Given the description of an element on the screen output the (x, y) to click on. 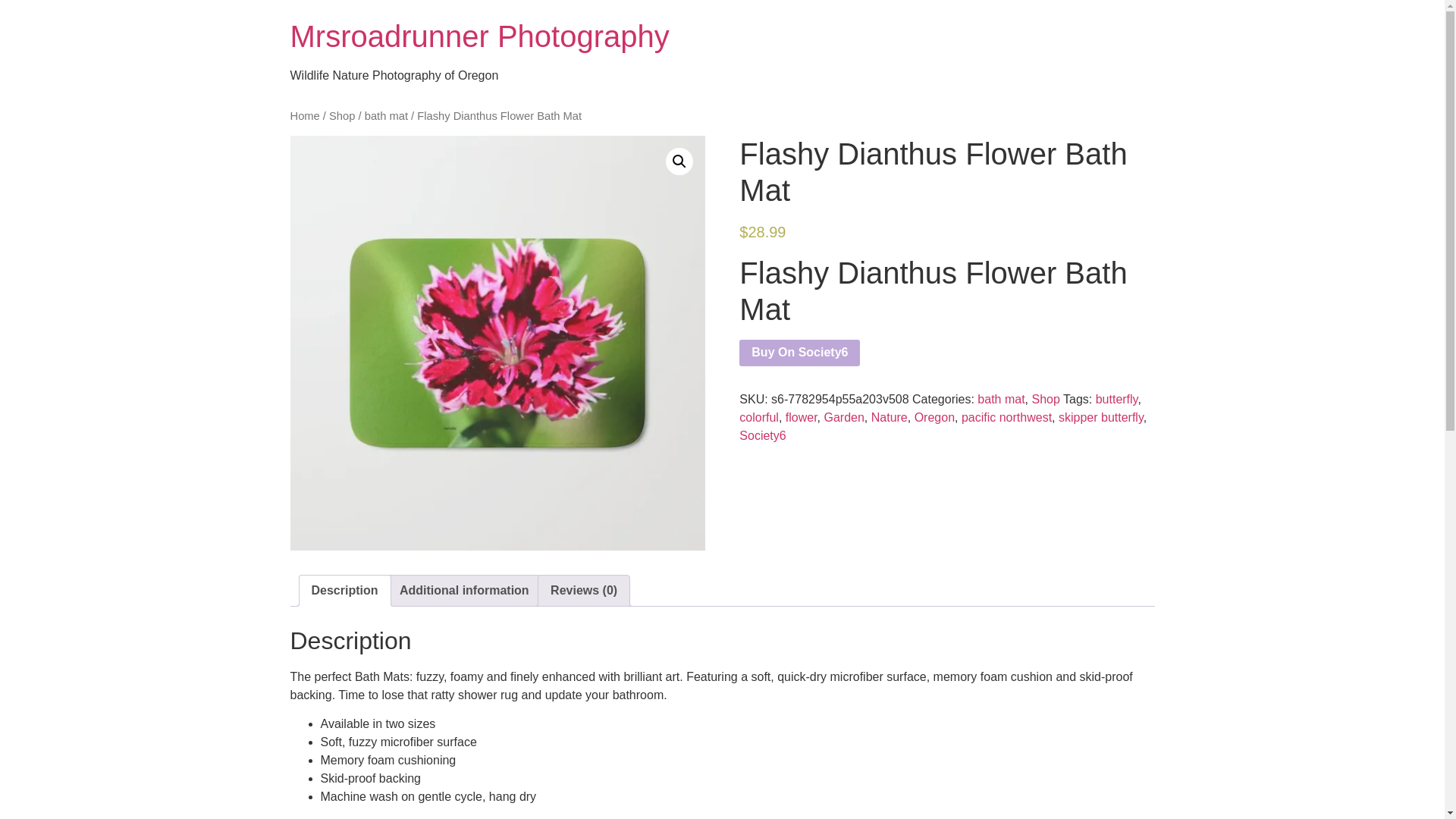
pacific northwest (1005, 417)
Home (303, 115)
Home (478, 36)
Additional information (463, 590)
Description (344, 590)
bath mat (1000, 399)
butterfly (1117, 399)
colorful (758, 417)
skipper butterfly (1100, 417)
Shop (342, 115)
Oregon (934, 417)
Shop (1044, 399)
Buy On Society6 (799, 352)
Nature (888, 417)
Society6 (762, 435)
